Given the description of an element on the screen output the (x, y) to click on. 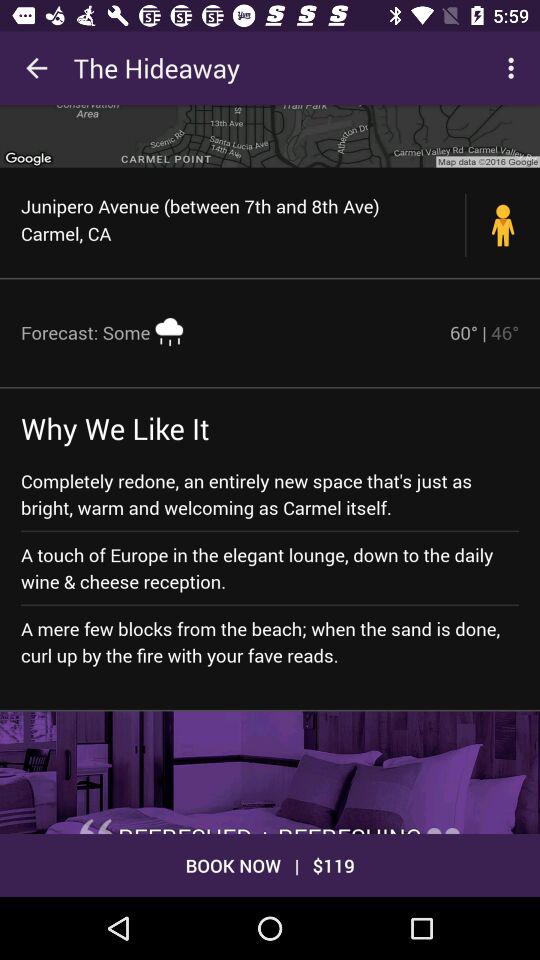
turn off item next to the junipero avenue between icon (503, 224)
